Given the description of an element on the screen output the (x, y) to click on. 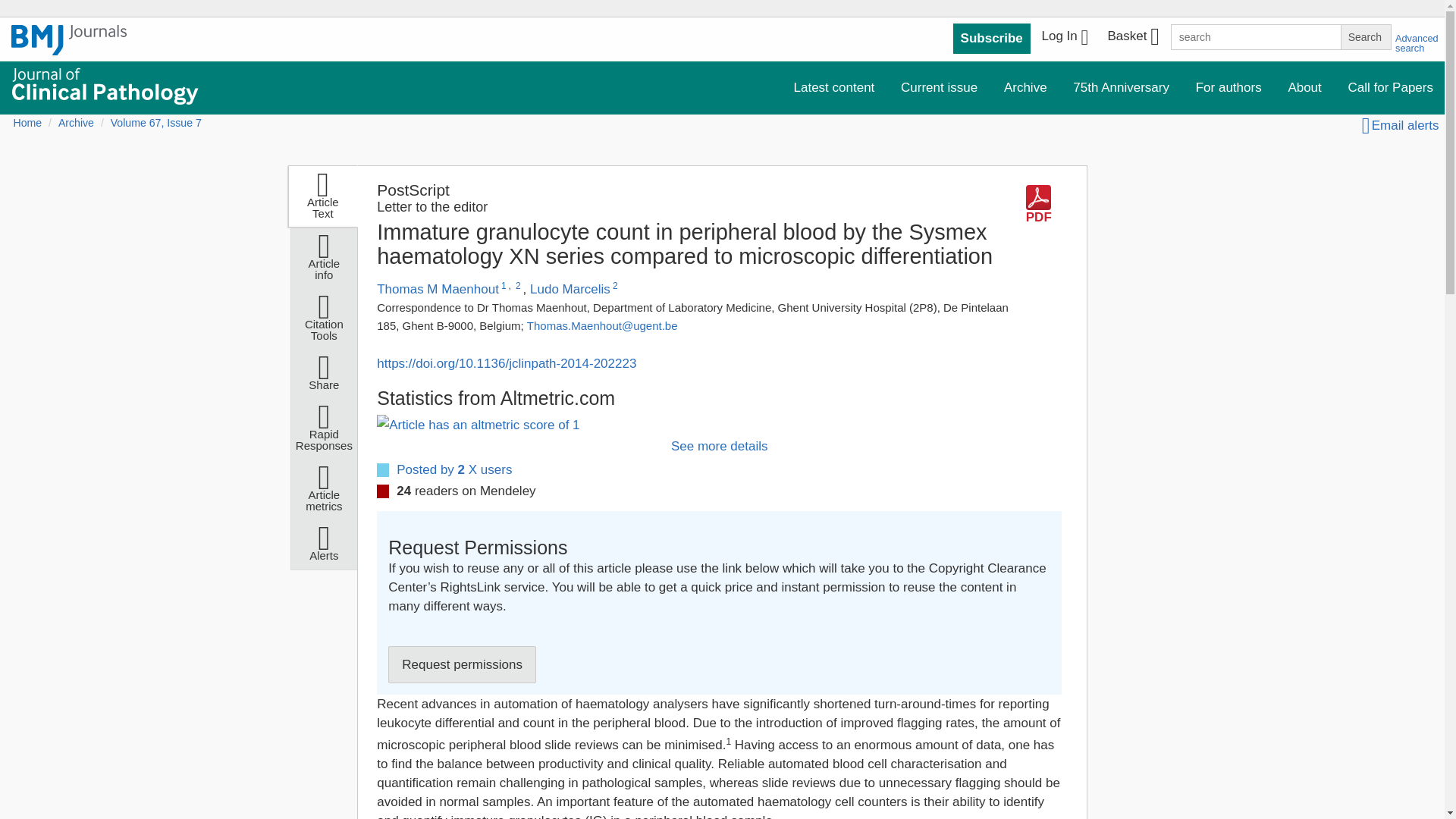
Subscribe (991, 38)
Archive (1025, 87)
Search (1364, 36)
Basket (1132, 38)
Latest content (834, 87)
BMJ Journals (68, 40)
BMJ Journals (68, 47)
For authors (1228, 87)
Log In (1064, 38)
Advanced search (1416, 43)
Search (1364, 36)
Current issue (938, 87)
75th Anniversary (1120, 87)
About (1304, 87)
